Given the description of an element on the screen output the (x, y) to click on. 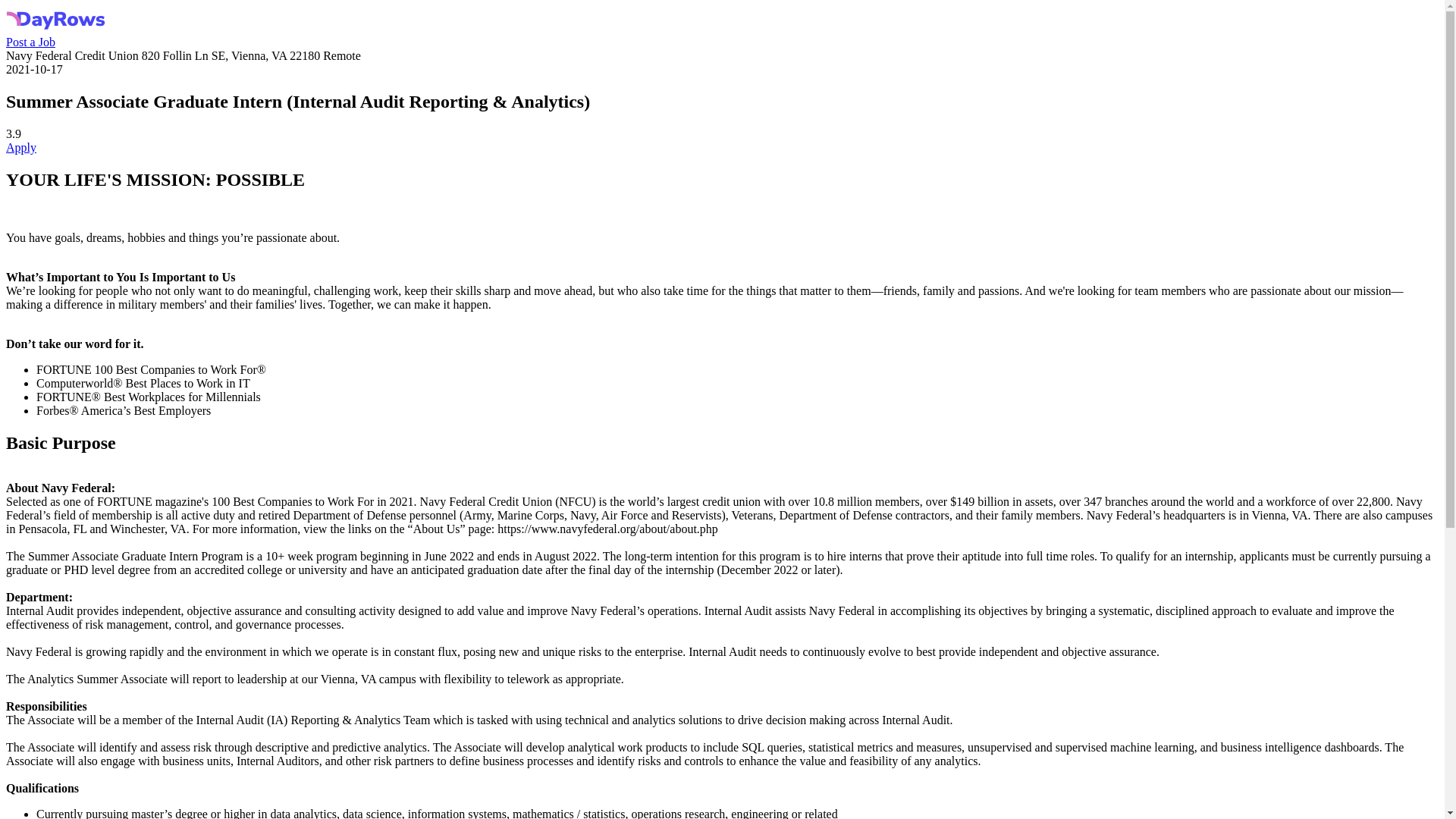
Apply (20, 146)
Post a Job (30, 42)
